Given the description of an element on the screen output the (x, y) to click on. 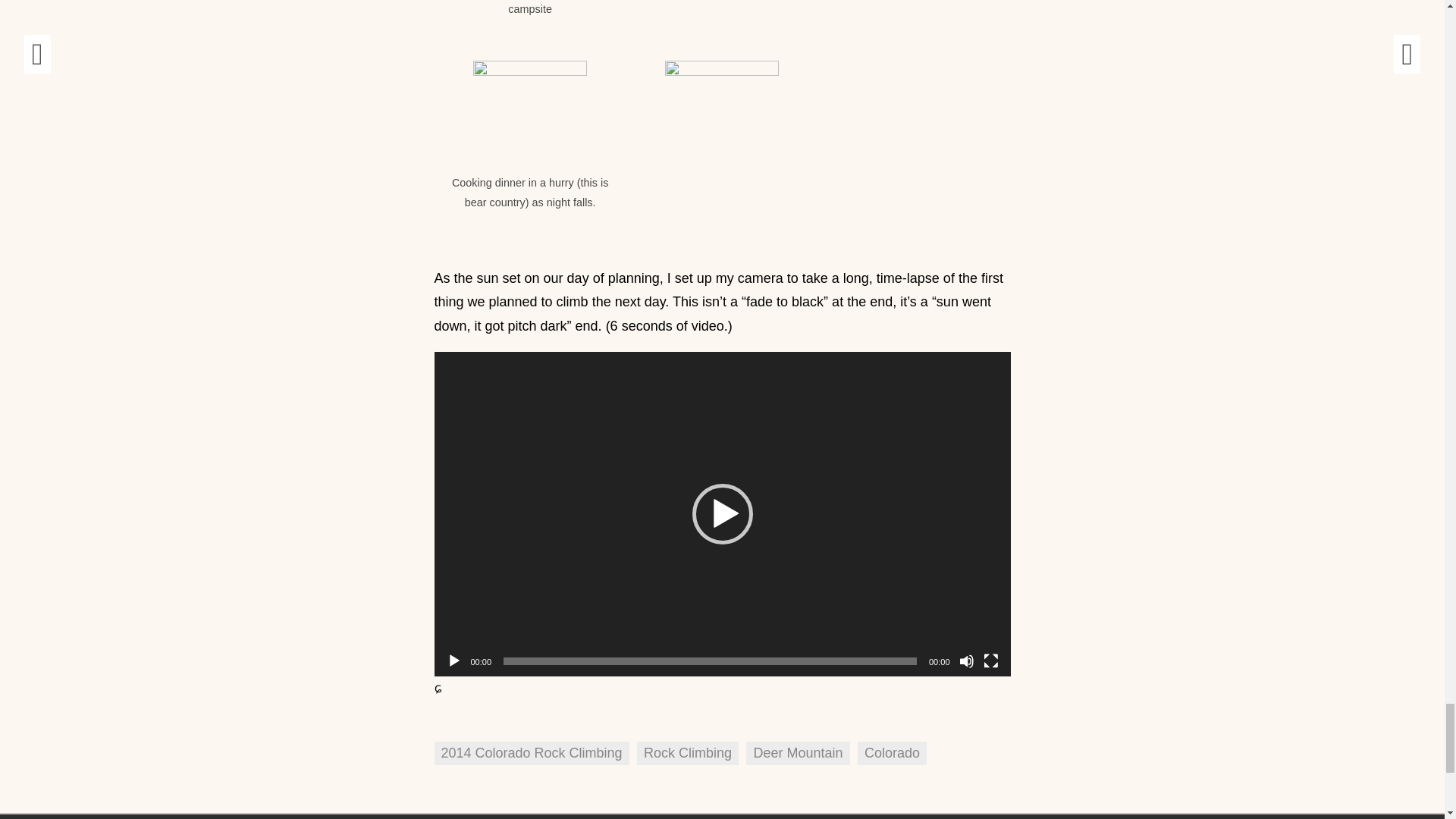
Play (453, 661)
